Given the description of an element on the screen output the (x, y) to click on. 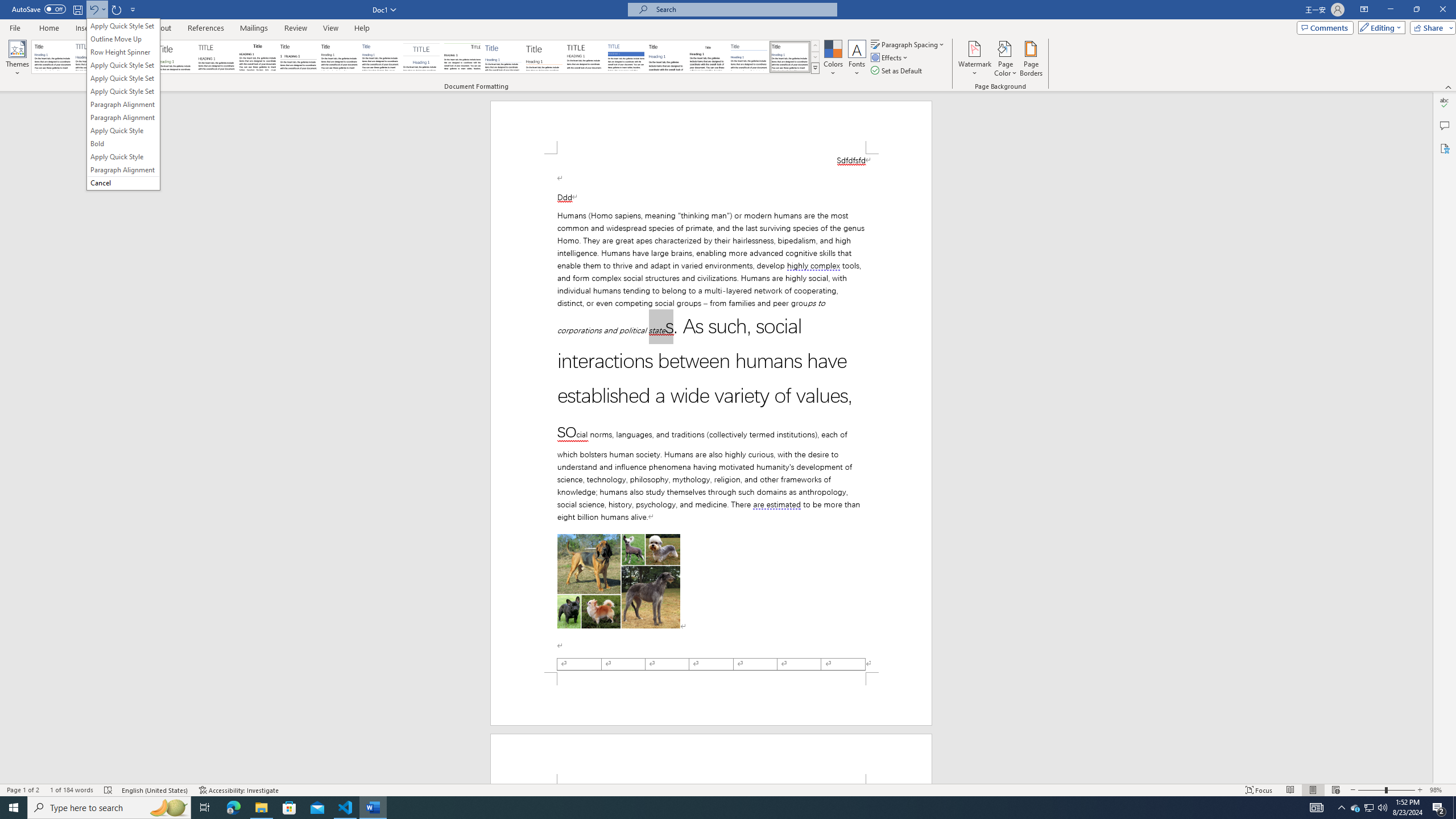
Word 2013 (790, 56)
Word - 1 running window (373, 807)
Lines (Distinctive) (462, 56)
Page Color (1005, 58)
